Given the description of an element on the screen output the (x, y) to click on. 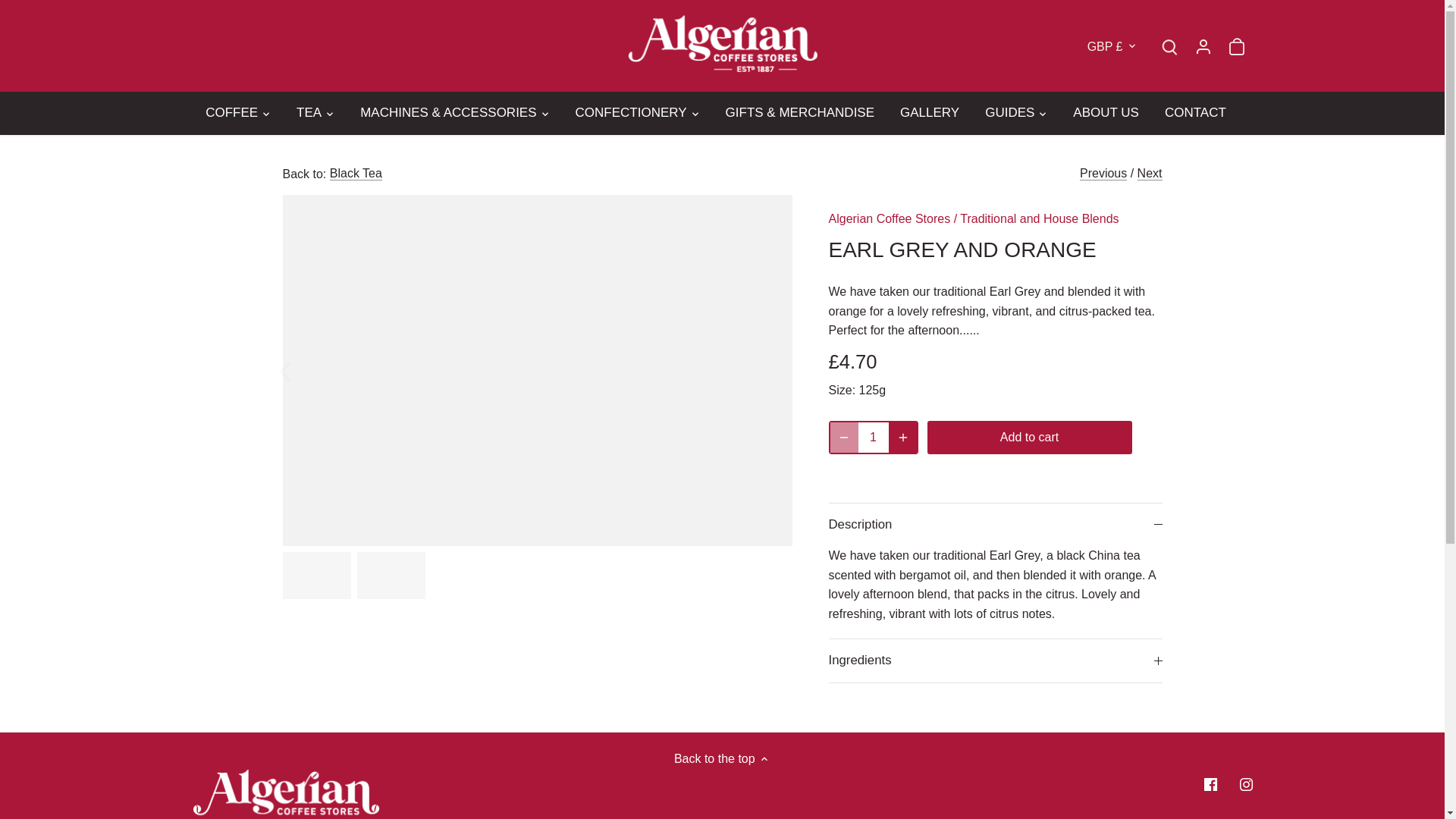
TEA (308, 112)
1 (873, 437)
Black Tea (355, 173)
Instagram (1246, 784)
COFFEE (237, 112)
Facebook (1210, 784)
